Given the description of an element on the screen output the (x, y) to click on. 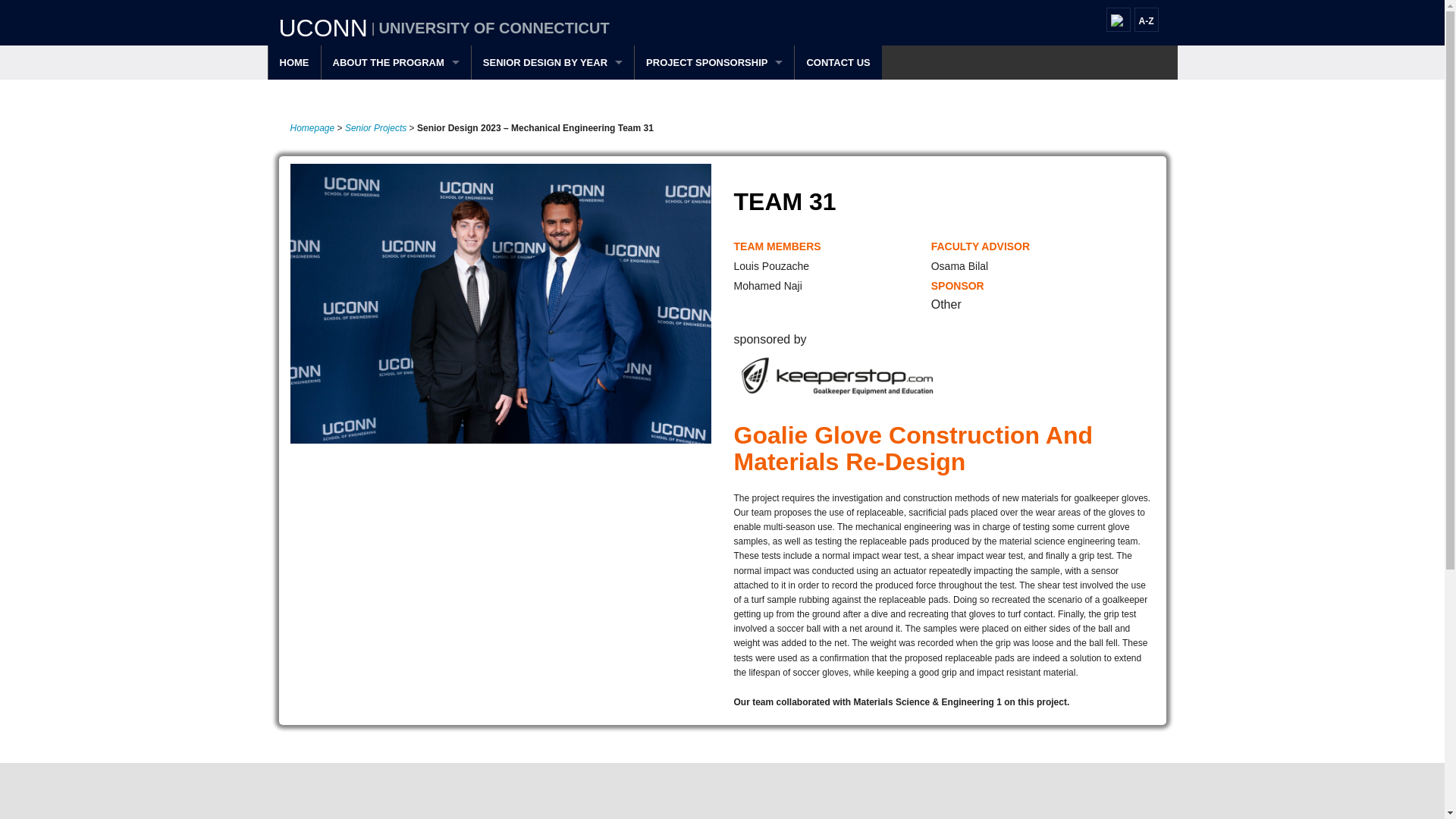
SD2023.ME31 (440, 559)
MESSAGE FROM THE DEAN (395, 198)
ABOUT THE PROGRAM (395, 62)
UNIVERSITY OF CONNECTICUT (494, 27)
UCONN (323, 27)
HOME (293, 62)
SENIOR DESIGN DEMONSTRATION DAY EVENT DETAILS (395, 96)
Homepage (311, 127)
2020 SENIOR DESIGN DAY (552, 164)
ARCHIVE OF PRIOR YEARS (552, 130)
